Given the description of an element on the screen output the (x, y) to click on. 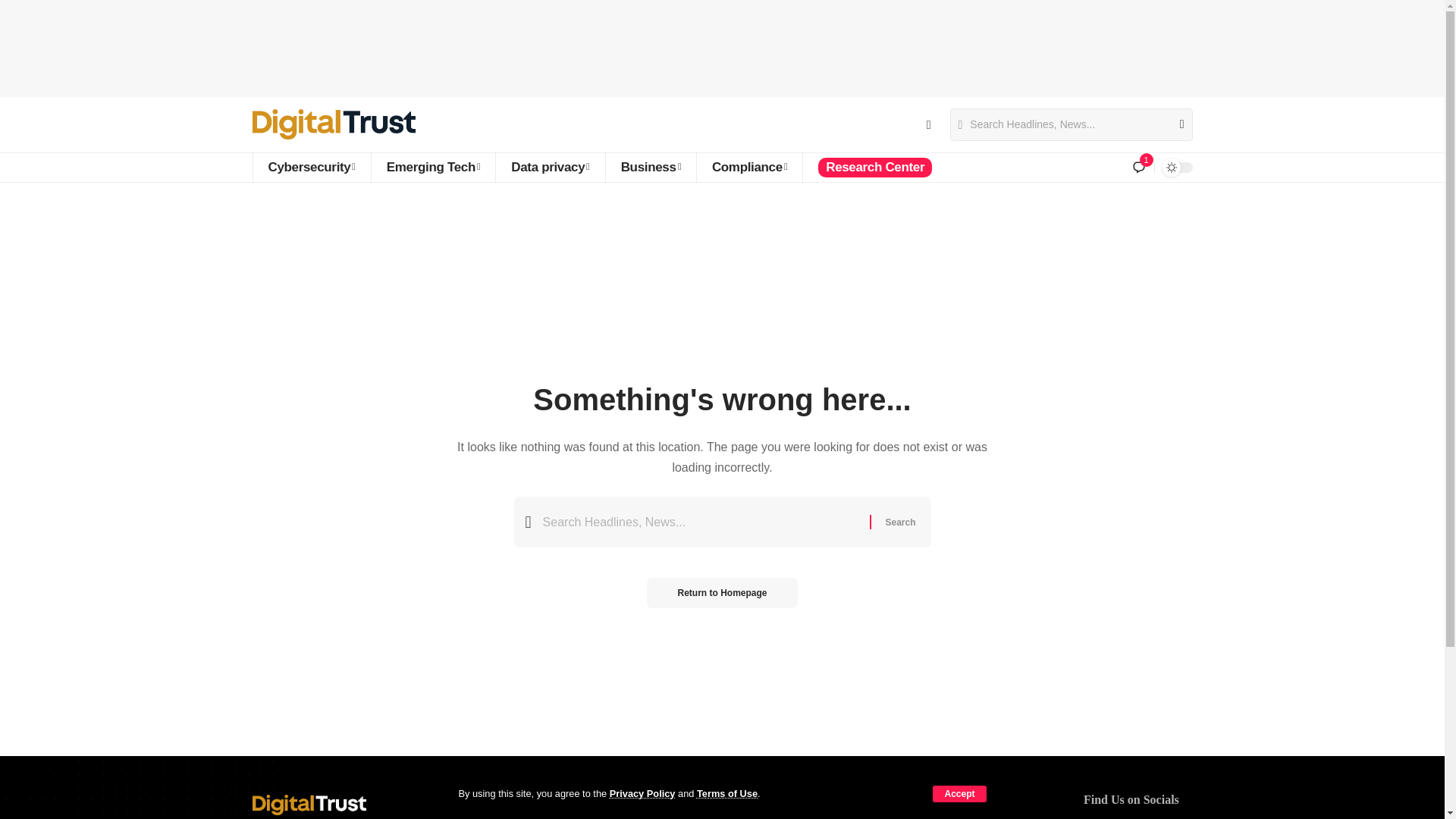
Digital Trust (332, 123)
Terms of Use (727, 793)
1 (1139, 167)
Accept (959, 793)
Data privacy (549, 167)
Advertisement (722, 45)
Emerging Tech (433, 167)
Research Center (874, 167)
Search (899, 521)
Privacy Policy (642, 793)
Business (650, 167)
Cybersecurity (310, 167)
Search (1175, 123)
Compliance (748, 167)
